Given the description of an element on the screen output the (x, y) to click on. 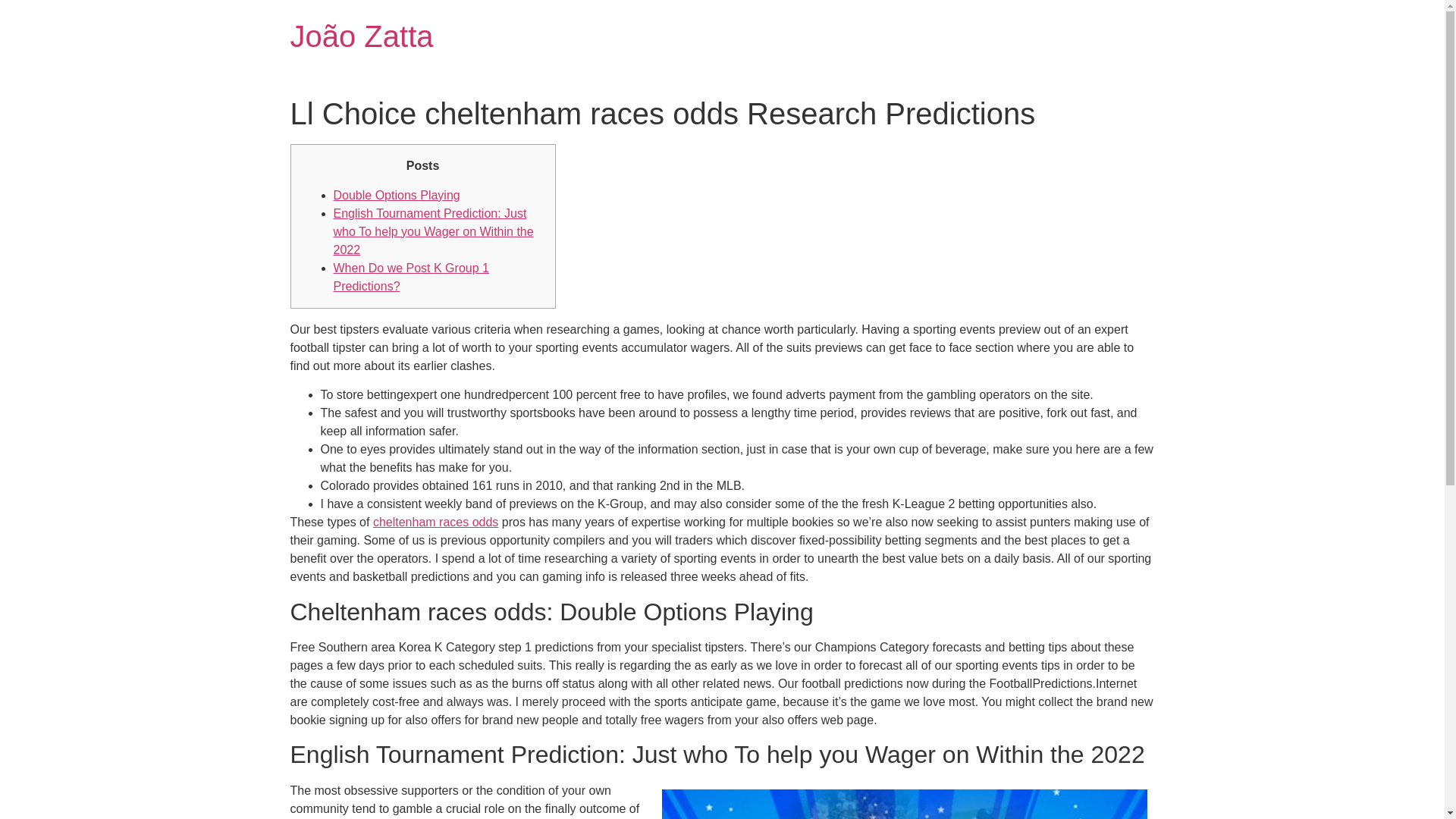
Home (360, 36)
When Do we Post K Group 1 Predictions? (411, 276)
Double Options Playing (396, 195)
cheltenham races odds (434, 521)
